Given the description of an element on the screen output the (x, y) to click on. 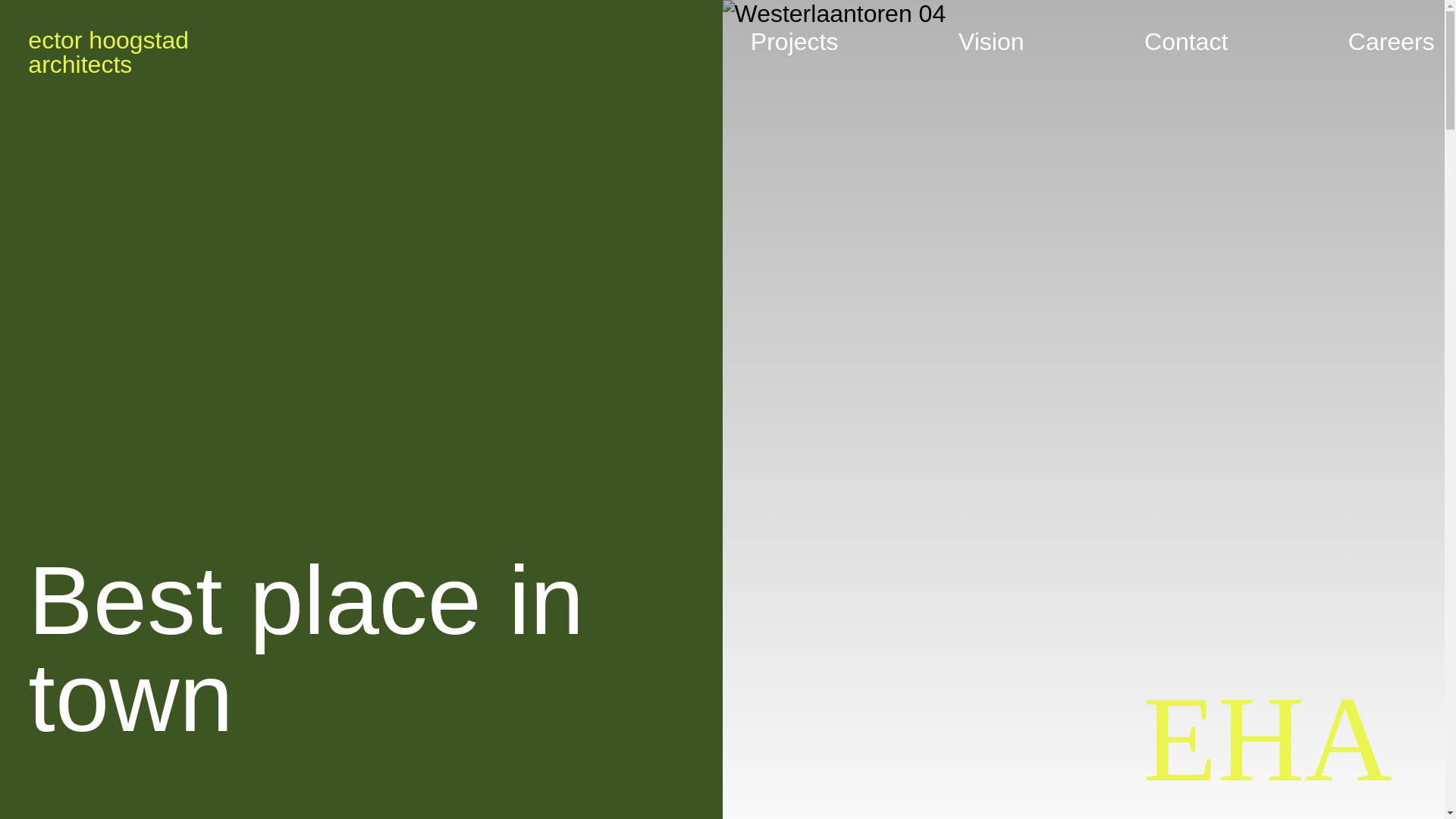
Home (108, 51)
Projects (794, 41)
Contact (1185, 41)
Careers (108, 51)
Vision (1391, 41)
